Given the description of an element on the screen output the (x, y) to click on. 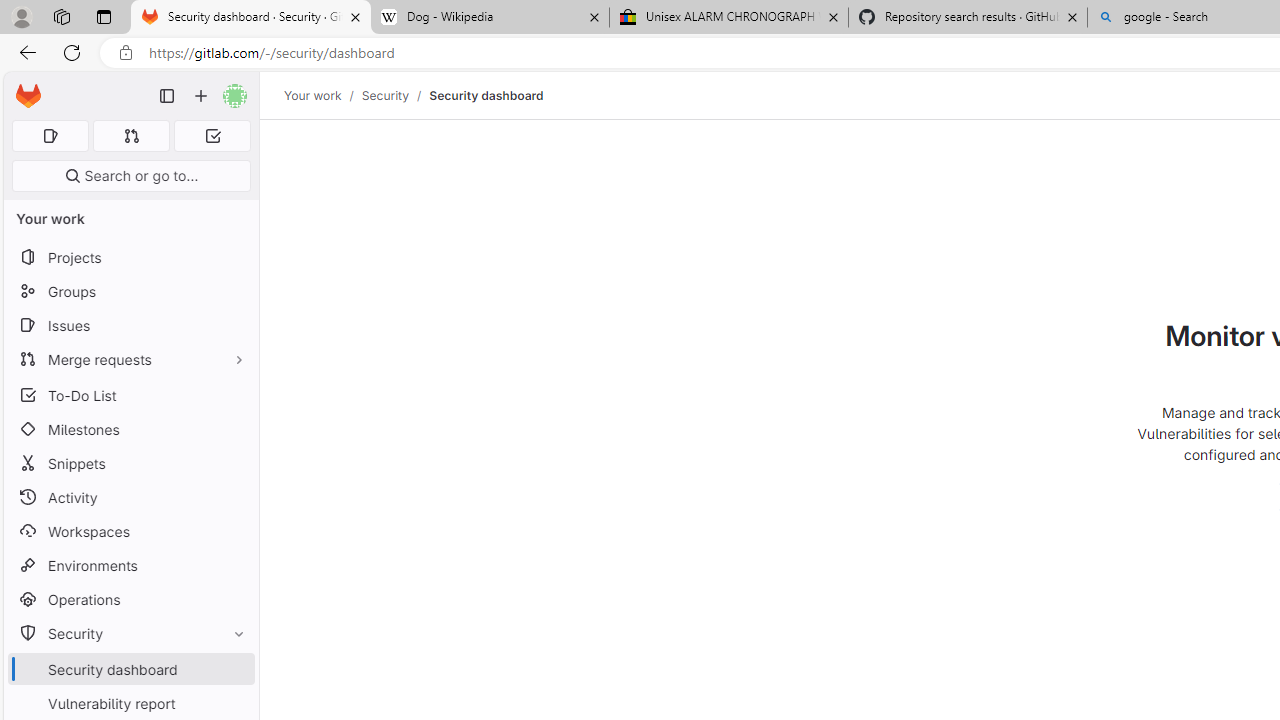
Issues (130, 325)
Groups (130, 291)
Activity (130, 497)
Merge requests (130, 358)
Vulnerability report (130, 703)
Your work/ (323, 95)
Projects (130, 257)
Merge requests (130, 358)
Operations (130, 599)
Milestones (130, 429)
